Given the description of an element on the screen output the (x, y) to click on. 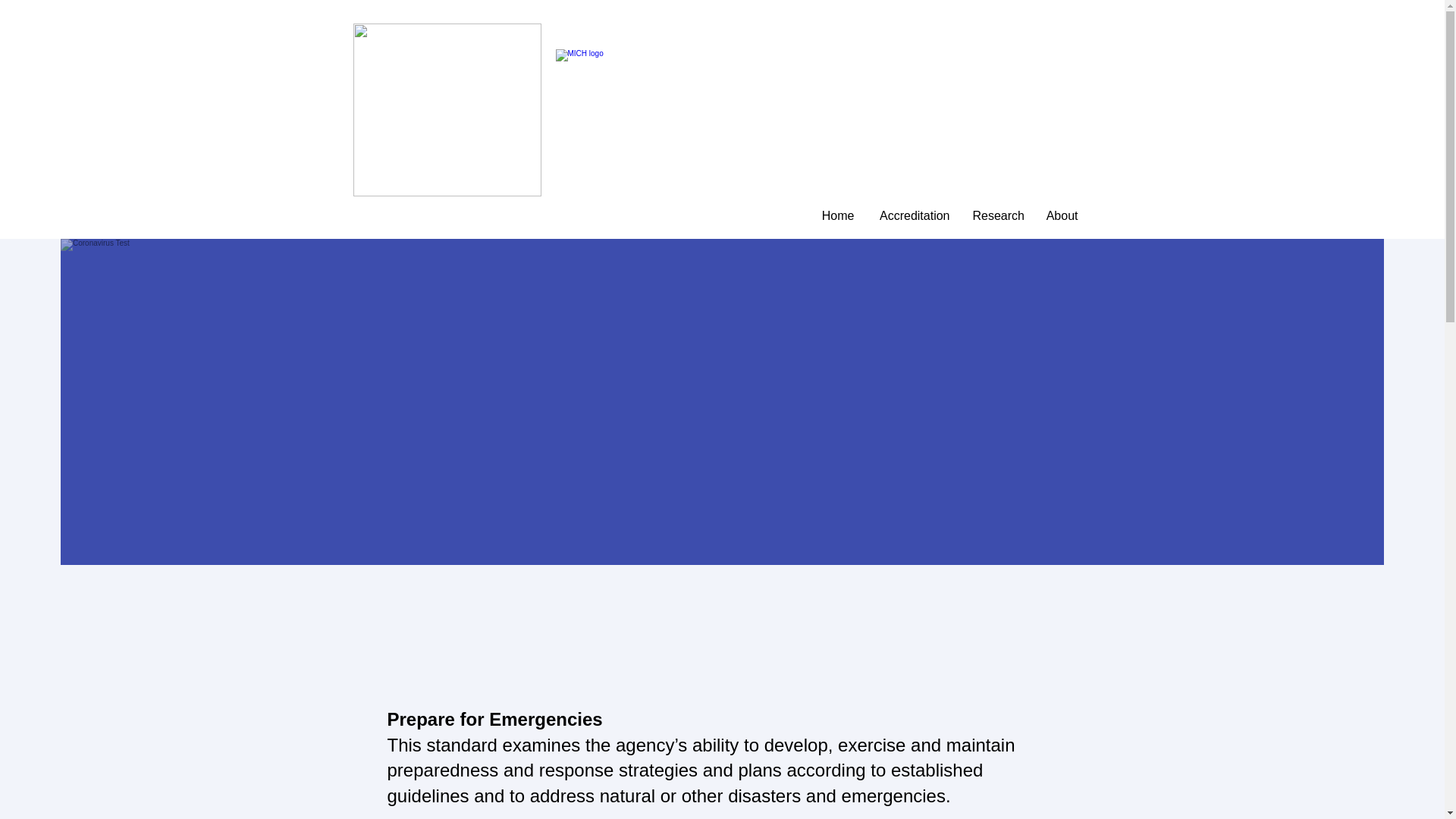
Research (996, 215)
MICH-seal-2024.png (447, 109)
Home (837, 215)
About (1060, 215)
Accreditation (913, 215)
